Given the description of an element on the screen output the (x, y) to click on. 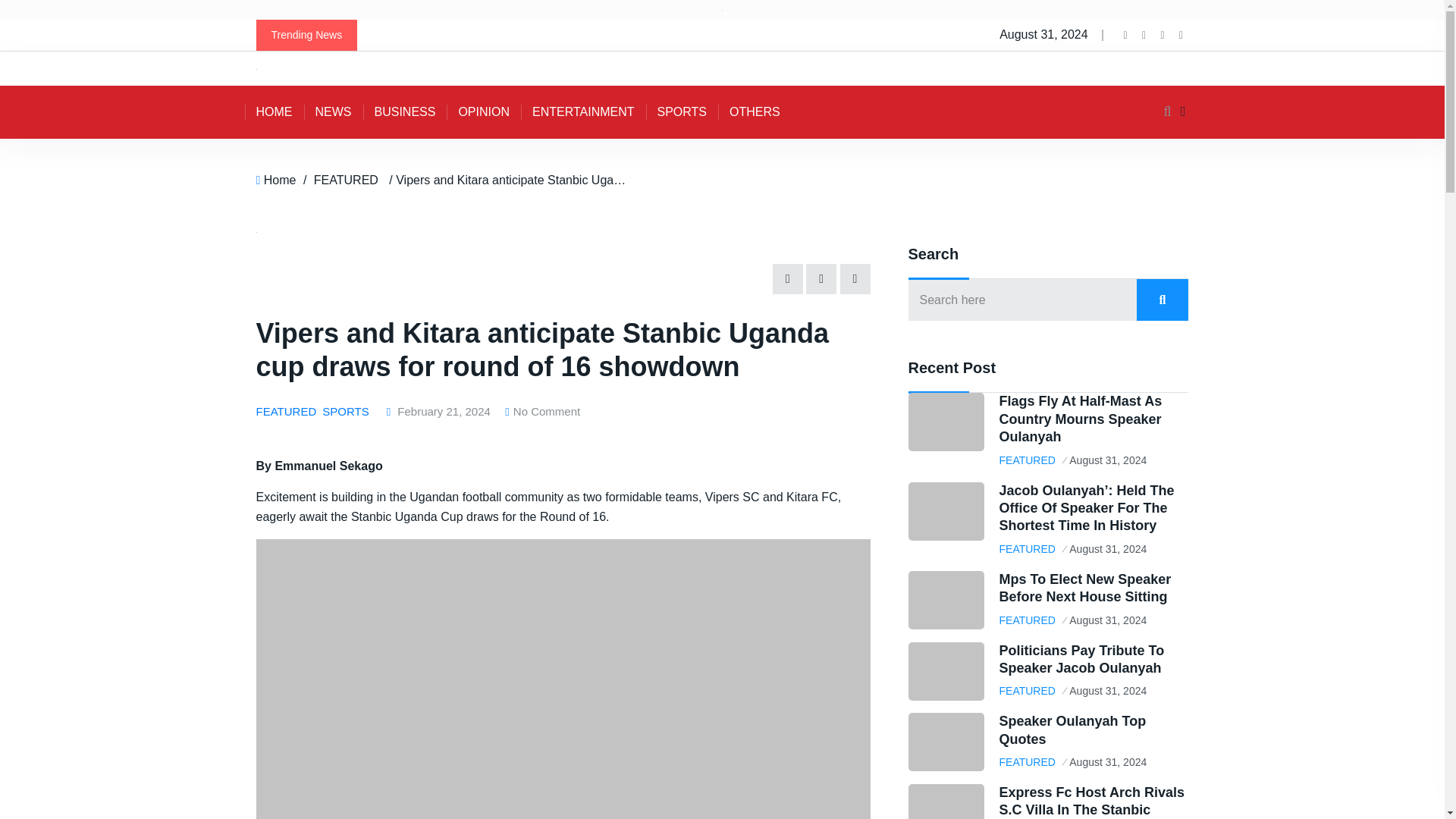
SPORTS (682, 111)
OPINION (483, 111)
ENTERTAINMENT (583, 111)
HOME (273, 111)
BUSINESS (404, 111)
NEWS (332, 111)
